Given the description of an element on the screen output the (x, y) to click on. 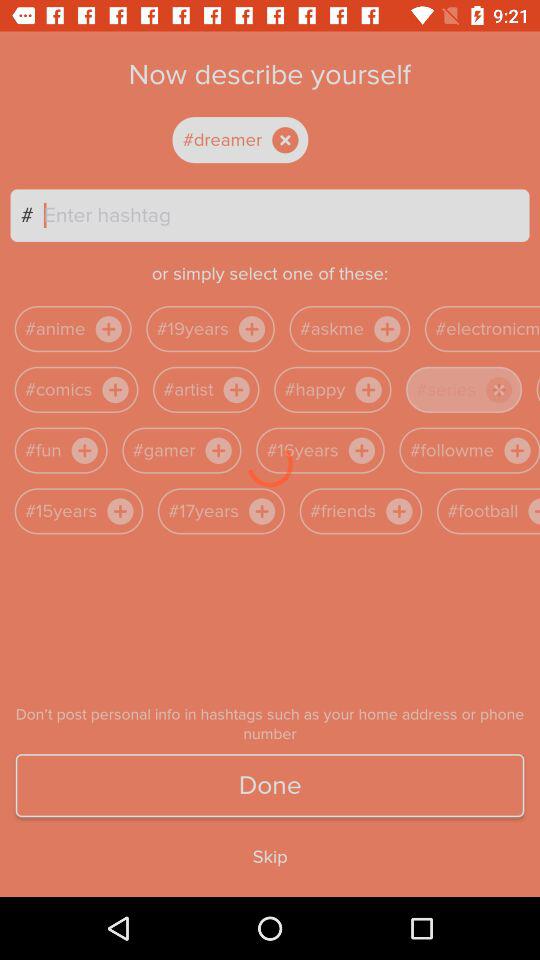
turn off the icon to the right of the # item (286, 215)
